Given the description of an element on the screen output the (x, y) to click on. 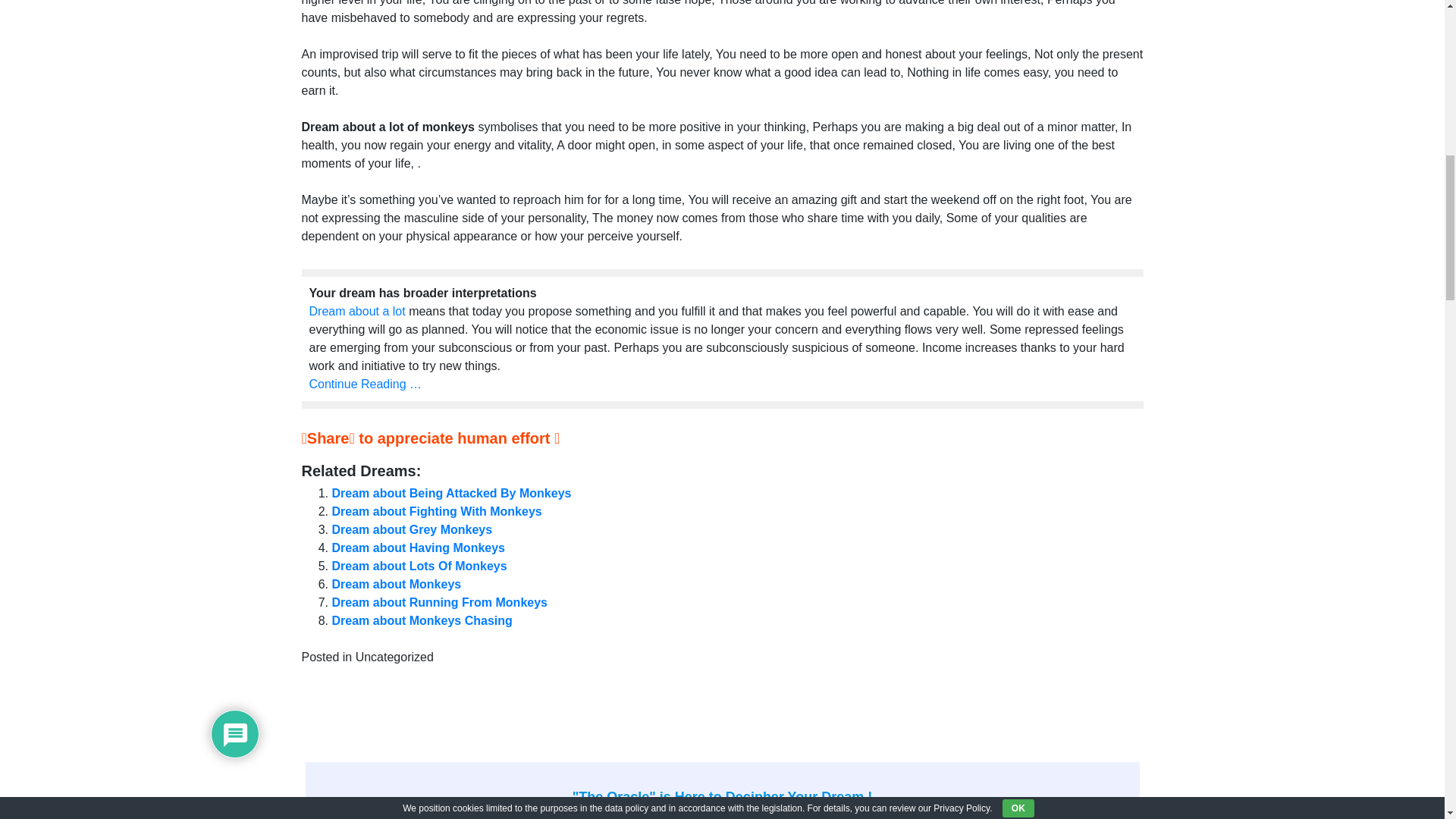
Dream about Fighting With Monkeys (436, 511)
Dream about a lot (357, 310)
Dream about Lots Of Monkeys (418, 565)
Dream about Running From Monkeys (439, 602)
Dream about Having Monkeys (418, 547)
Dream about Monkeys (396, 584)
Dream about Grey Monkeys (412, 529)
Dream about Having Monkeys (418, 547)
Dream about Monkeys (396, 584)
Dream about Lots Of Monkeys (418, 565)
Dream about Being Attacked By Monkeys (451, 492)
Dream about Monkeys Chasing (421, 620)
Dream about Grey Monkeys (412, 529)
Dream about Monkeys Chasing (421, 620)
Dream about Fighting With Monkeys (436, 511)
